Given the description of an element on the screen output the (x, y) to click on. 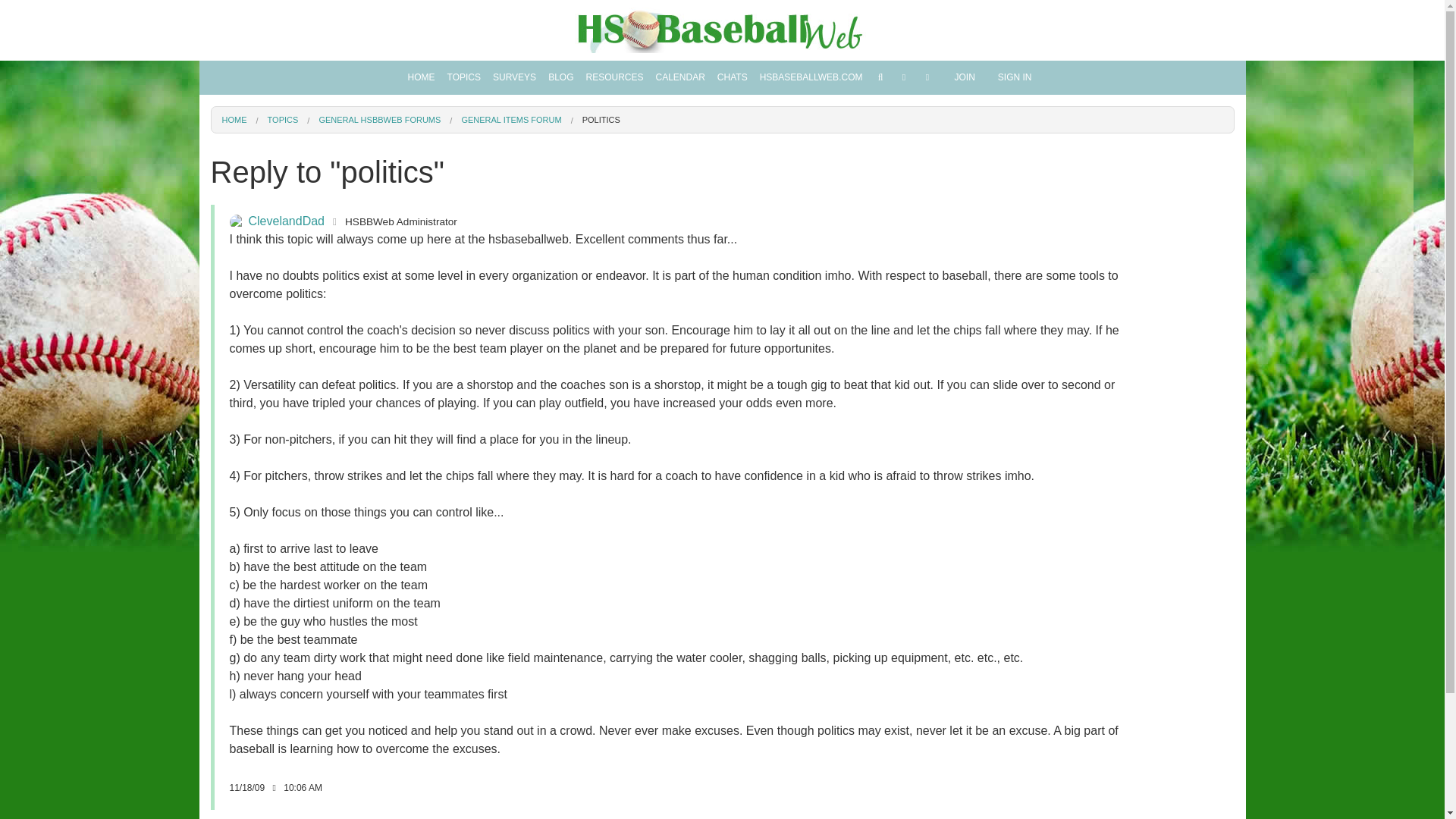
ClevelandDad (236, 222)
DIRECTORY (463, 108)
TOPICS (463, 77)
GENERAL HSBBWEB FORUMS (463, 161)
ANNOUNCEMENTS (463, 188)
ALL TOPICS (463, 134)
HOME (421, 77)
